Given the description of an element on the screen output the (x, y) to click on. 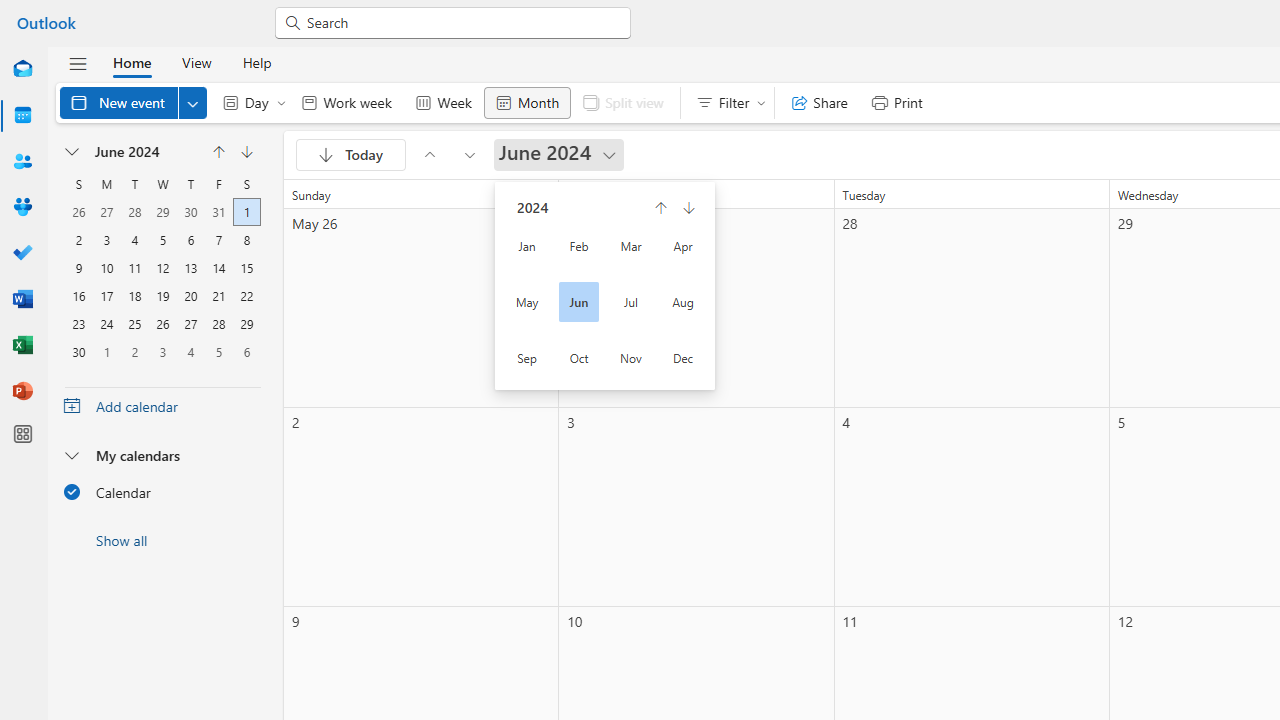
14, June, 2024 (218, 265)
23, June, 2024 (79, 322)
20, June, 2024 (190, 294)
Show all (162, 540)
28, June, 2024 (218, 322)
PowerPoint (22, 391)
19, June, 2024 (163, 294)
12, June, 2024 (163, 266)
26, May, 2024 (79, 209)
10, June, 2024 (107, 265)
Go to previous month May (218, 152)
11, June, 2024 (134, 265)
Date selector (73, 152)
Excel (22, 345)
17, June, 2024 (106, 294)
